Given the description of an element on the screen output the (x, y) to click on. 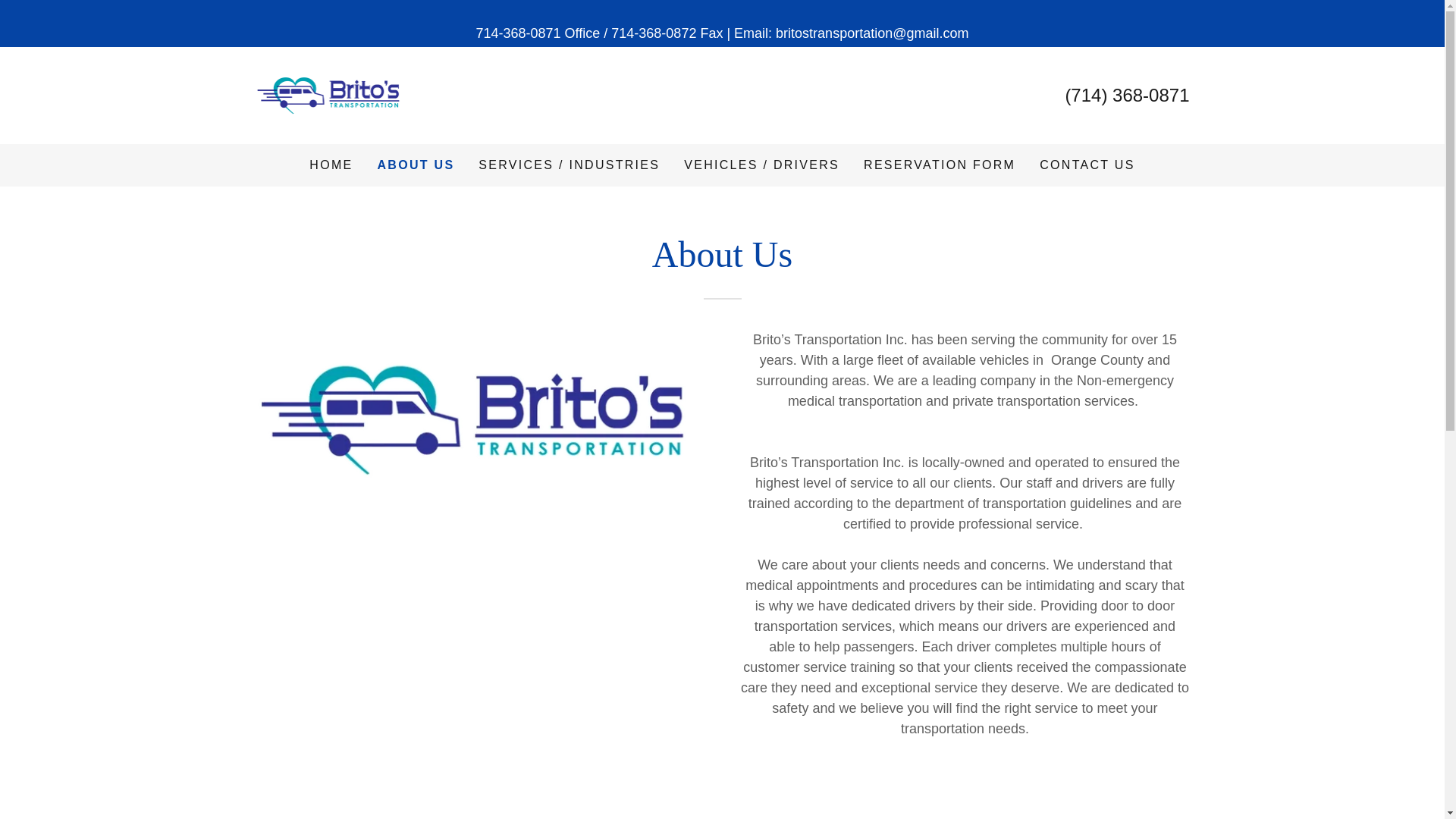
714-368-0871 (330, 94)
RESERVATION FORM (939, 165)
ABOUT US (415, 165)
HOME (330, 165)
CONTACT US (1086, 165)
